Given the description of an element on the screen output the (x, y) to click on. 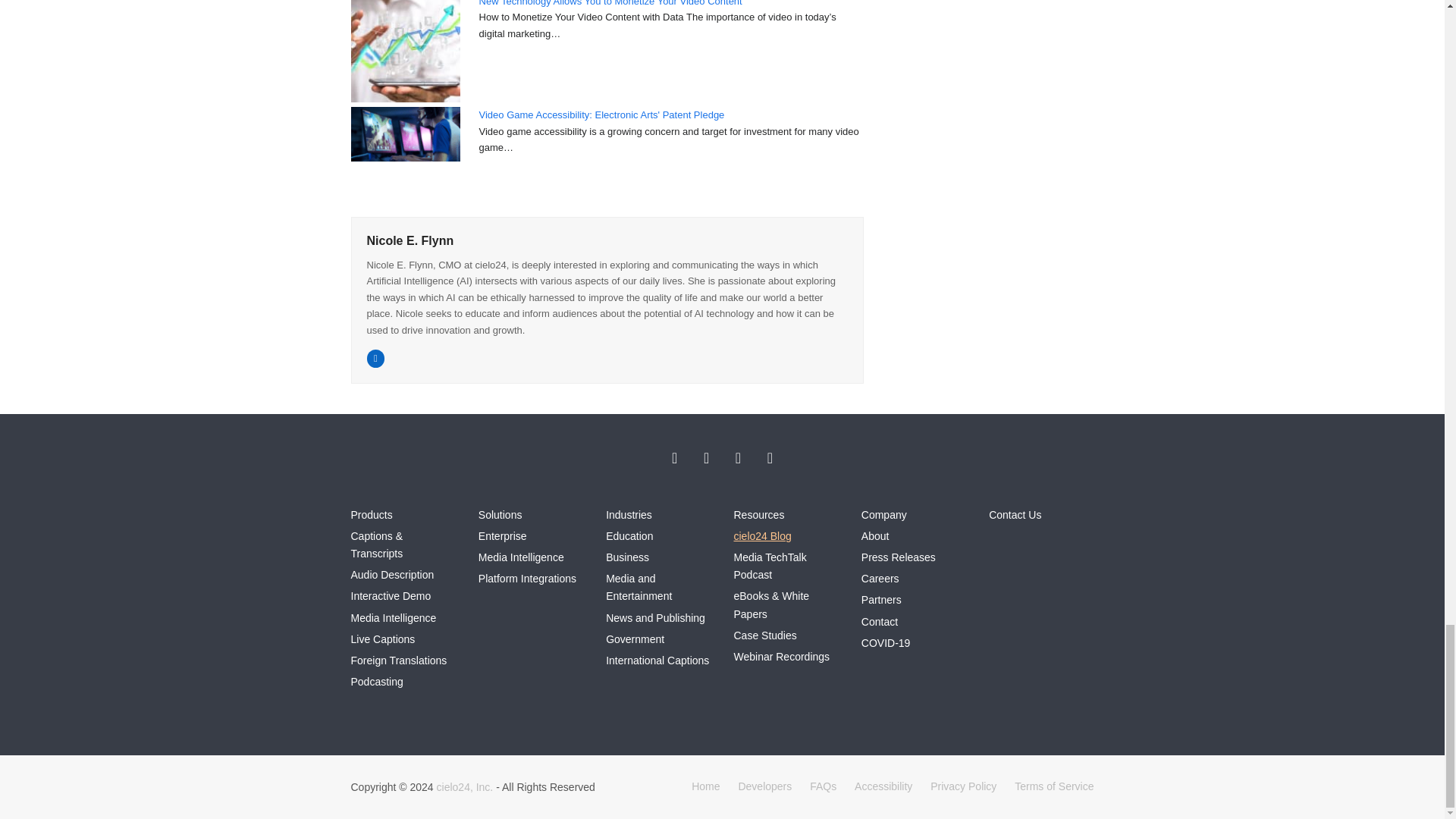
Visit Author Page (410, 240)
RSS (769, 458)
Facebook (706, 458)
Twitter (674, 458)
LinkedIn (737, 458)
